Given the description of an element on the screen output the (x, y) to click on. 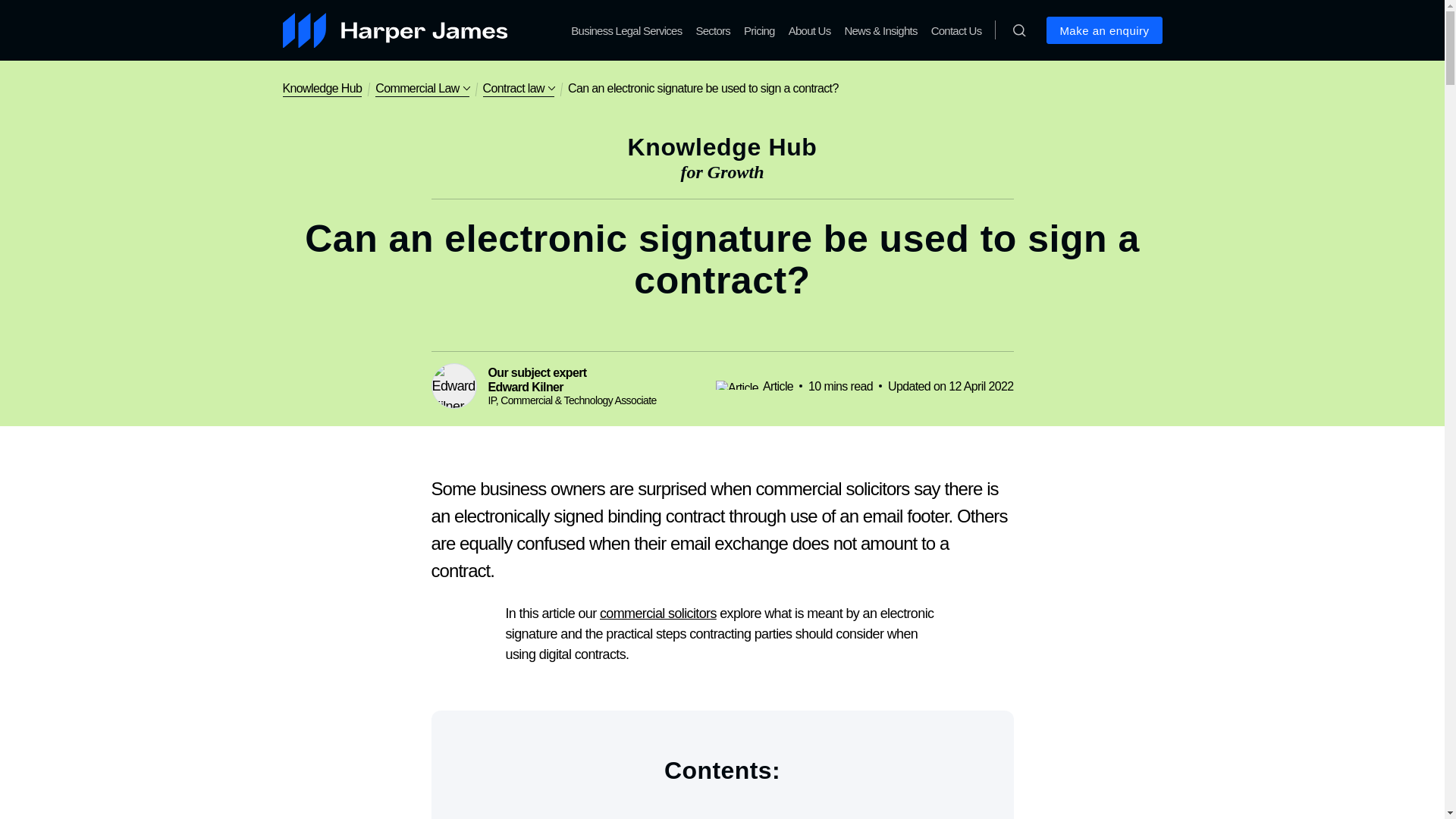
Share on Twitter (691, 317)
Share on LinkedIn (721, 317)
Share on Facebook (661, 317)
